Given the description of an element on the screen output the (x, y) to click on. 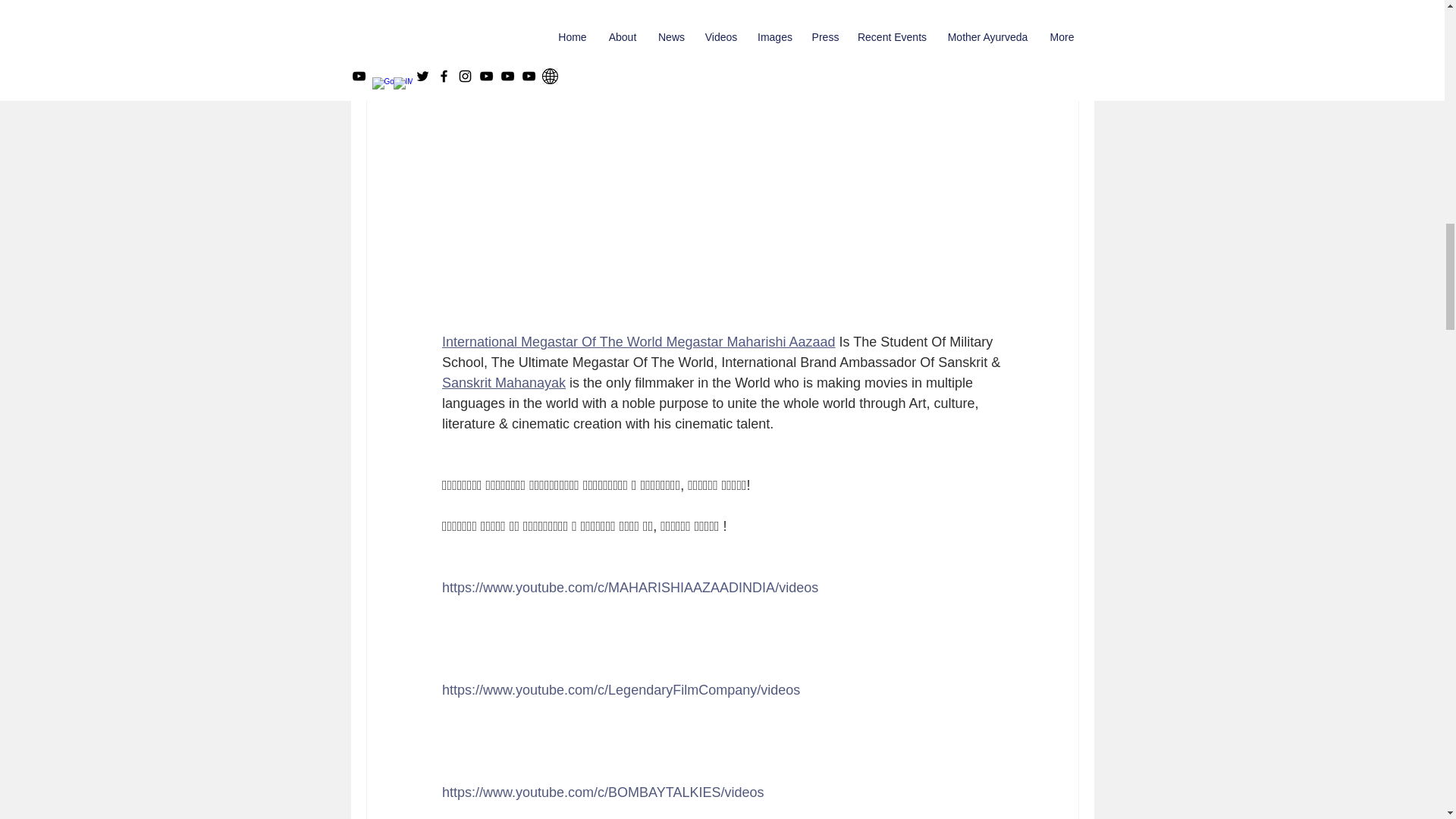
Sanskrit Mahanayak (502, 382)
